Given the description of an element on the screen output the (x, y) to click on. 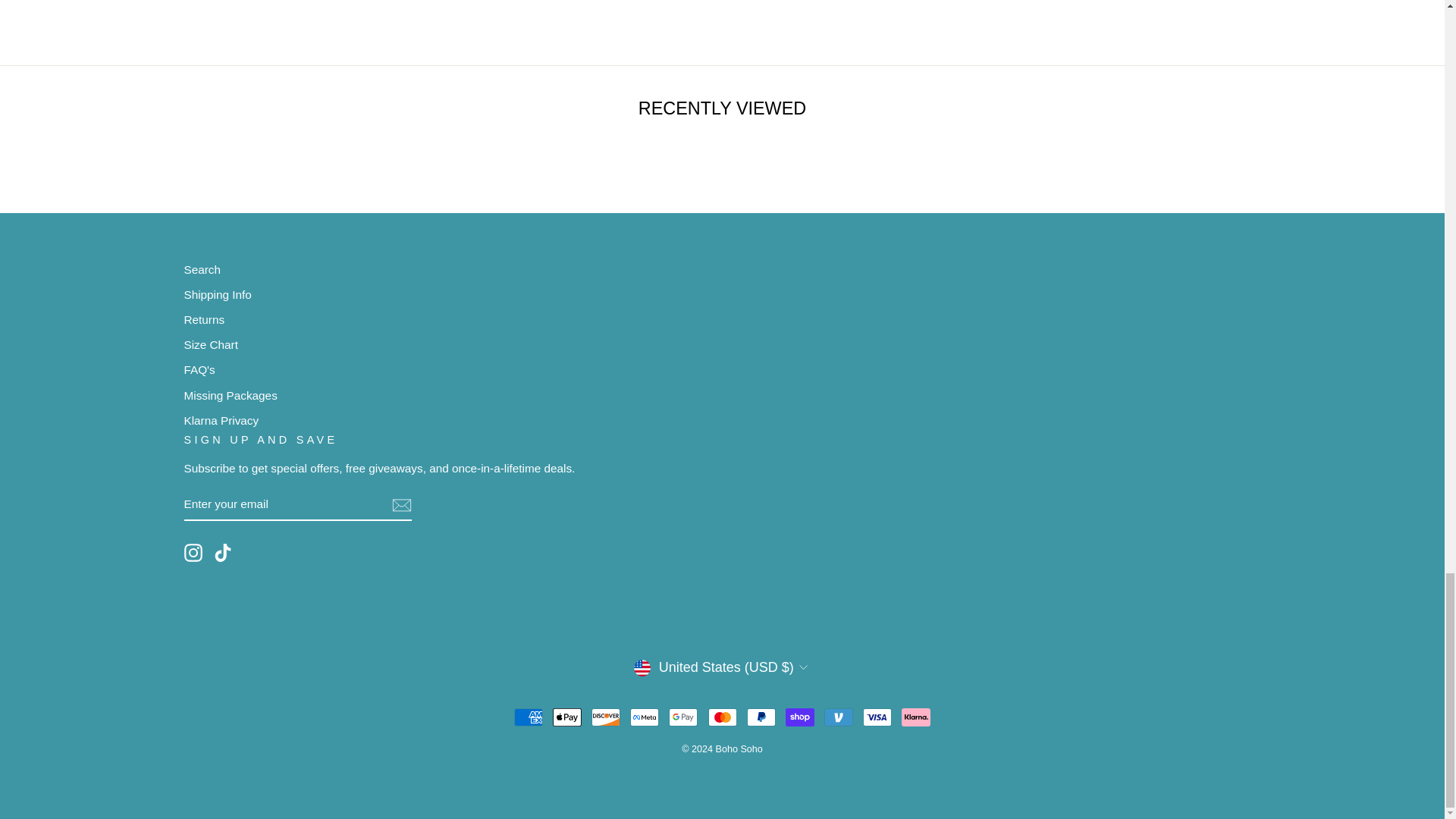
American Express (528, 717)
icon-email (400, 505)
Boho Soho on Instagram (192, 552)
Apple Pay (566, 717)
Boho Soho on TikTok (222, 552)
instagram (192, 552)
